Given the description of an element on the screen output the (x, y) to click on. 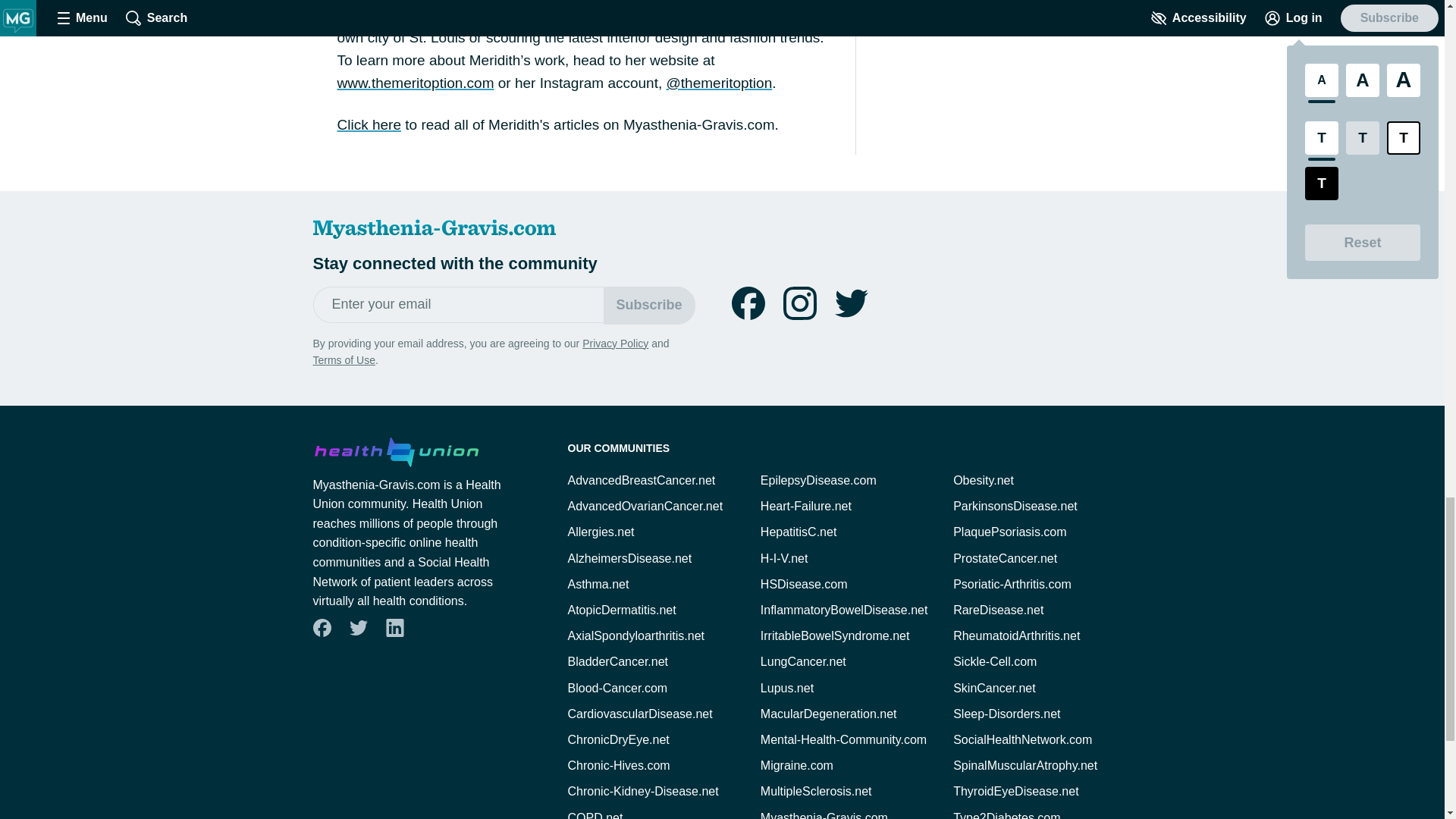
Follow us on twitter (357, 627)
Follow us on facebook (747, 303)
Follow us on facebook (320, 627)
Follow us on twitter (357, 628)
Follow us on linkedin (393, 627)
Follow us on linkedin (394, 628)
Click here (368, 124)
www.themeritoption.com (414, 82)
Follow us on facebook (321, 628)
Terms of Use (343, 359)
